Given the description of an element on the screen output the (x, y) to click on. 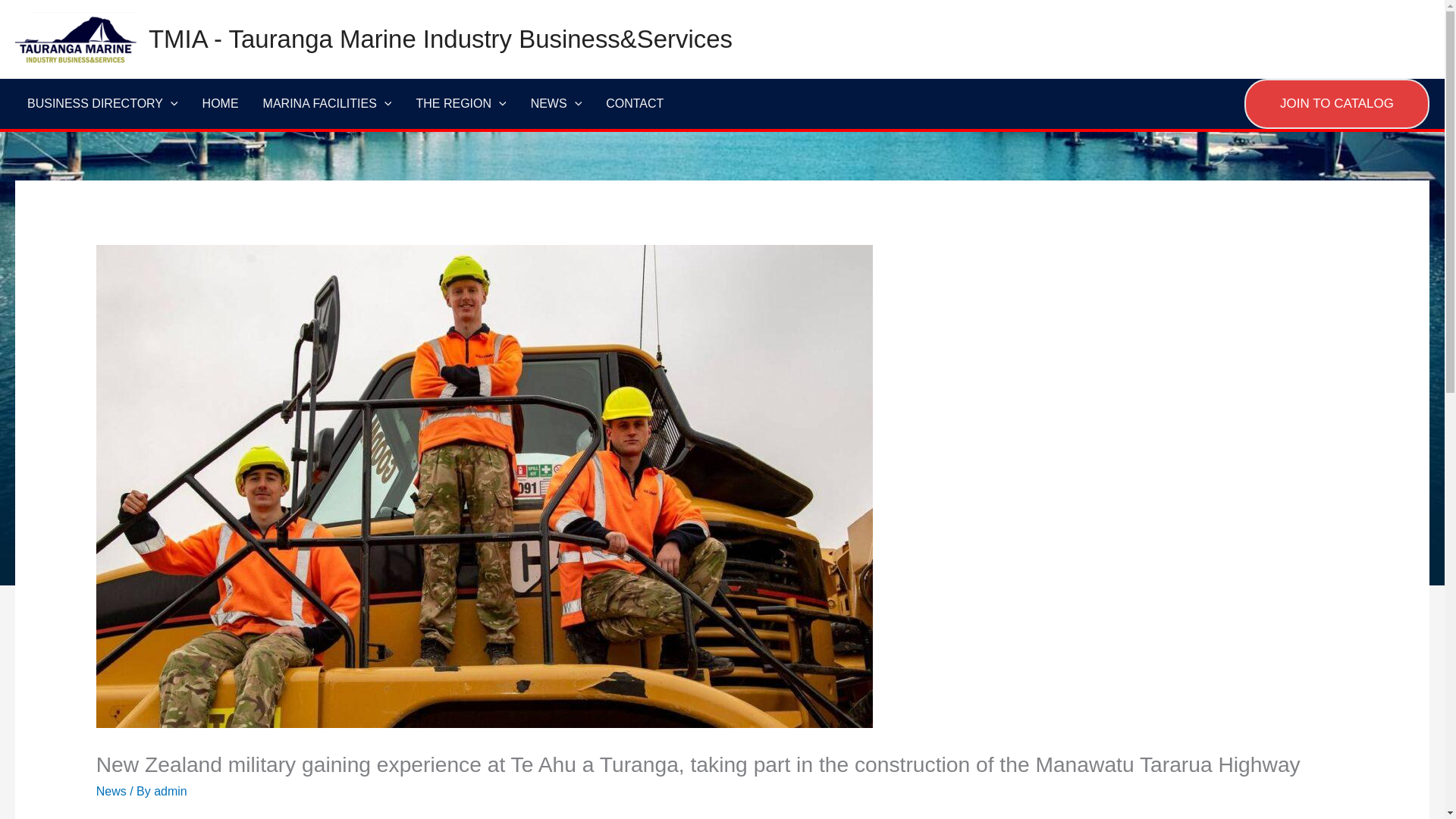
View all posts by admin (170, 790)
BUSINESS DIRECTORY (102, 103)
HOME (220, 103)
MARINA FACILITIES (327, 103)
THE REGION (460, 103)
